Given the description of an element on the screen output the (x, y) to click on. 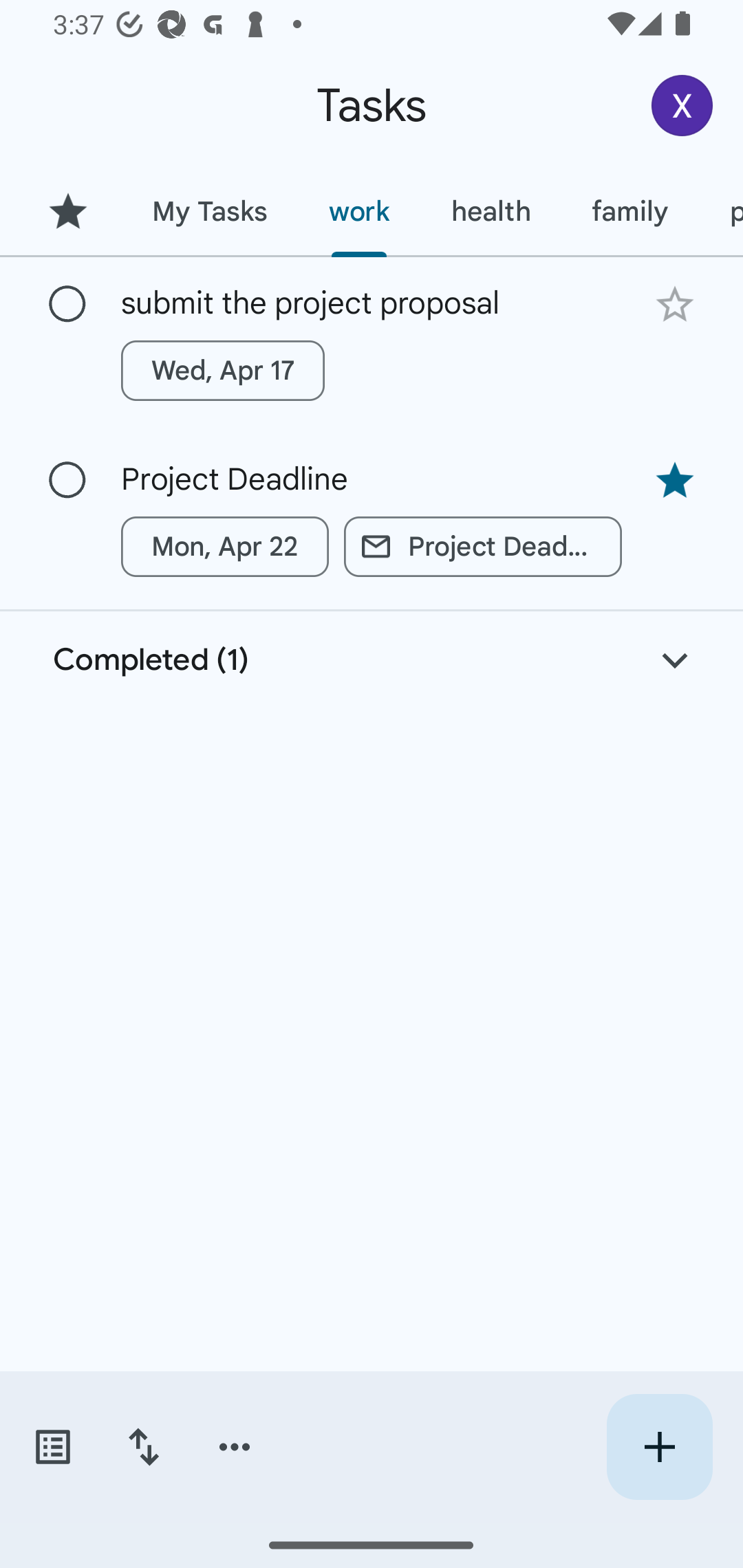
Starred (67, 211)
My Tasks (209, 211)
health (490, 211)
family (629, 211)
Add star (674, 303)
Mark as complete (67, 304)
Wed, Apr 17 (222, 369)
Remove star (674, 480)
Mark as complete (67, 480)
Mon, Apr 22 (225, 546)
Project Deadline Related link (482, 546)
Completed (1) (371, 660)
Switch task lists (52, 1447)
Create new task (659, 1446)
Change sort order (143, 1446)
More options (234, 1446)
